Given the description of an element on the screen output the (x, y) to click on. 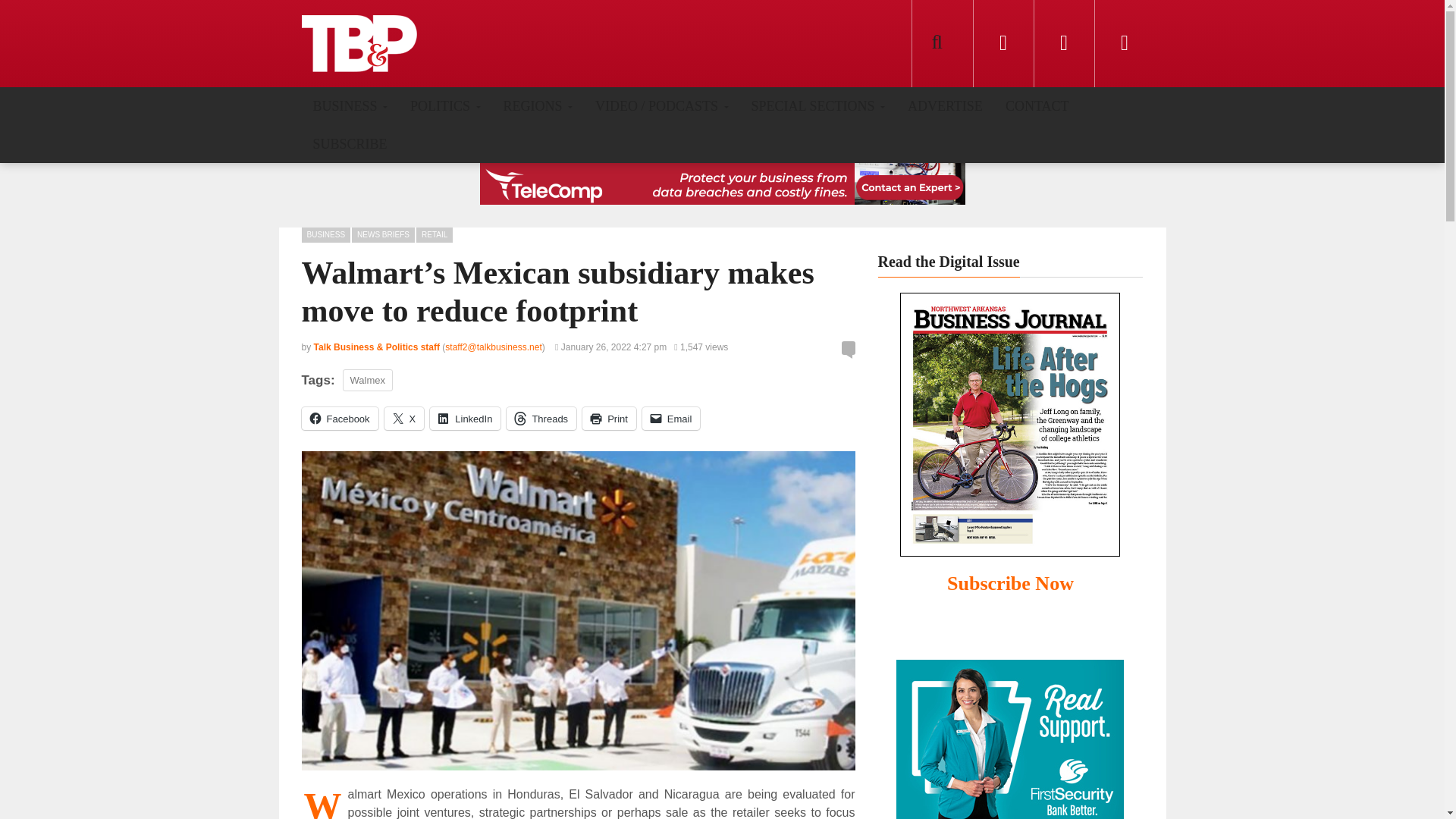
BUSINESS (349, 105)
Click to email a link to a friend (671, 418)
Click to print (609, 418)
Click to share on LinkedIn (464, 418)
Click to share on Facebook (339, 418)
Click to share on X (404, 418)
Click to share on Threads (541, 418)
